Given the description of an element on the screen output the (x, y) to click on. 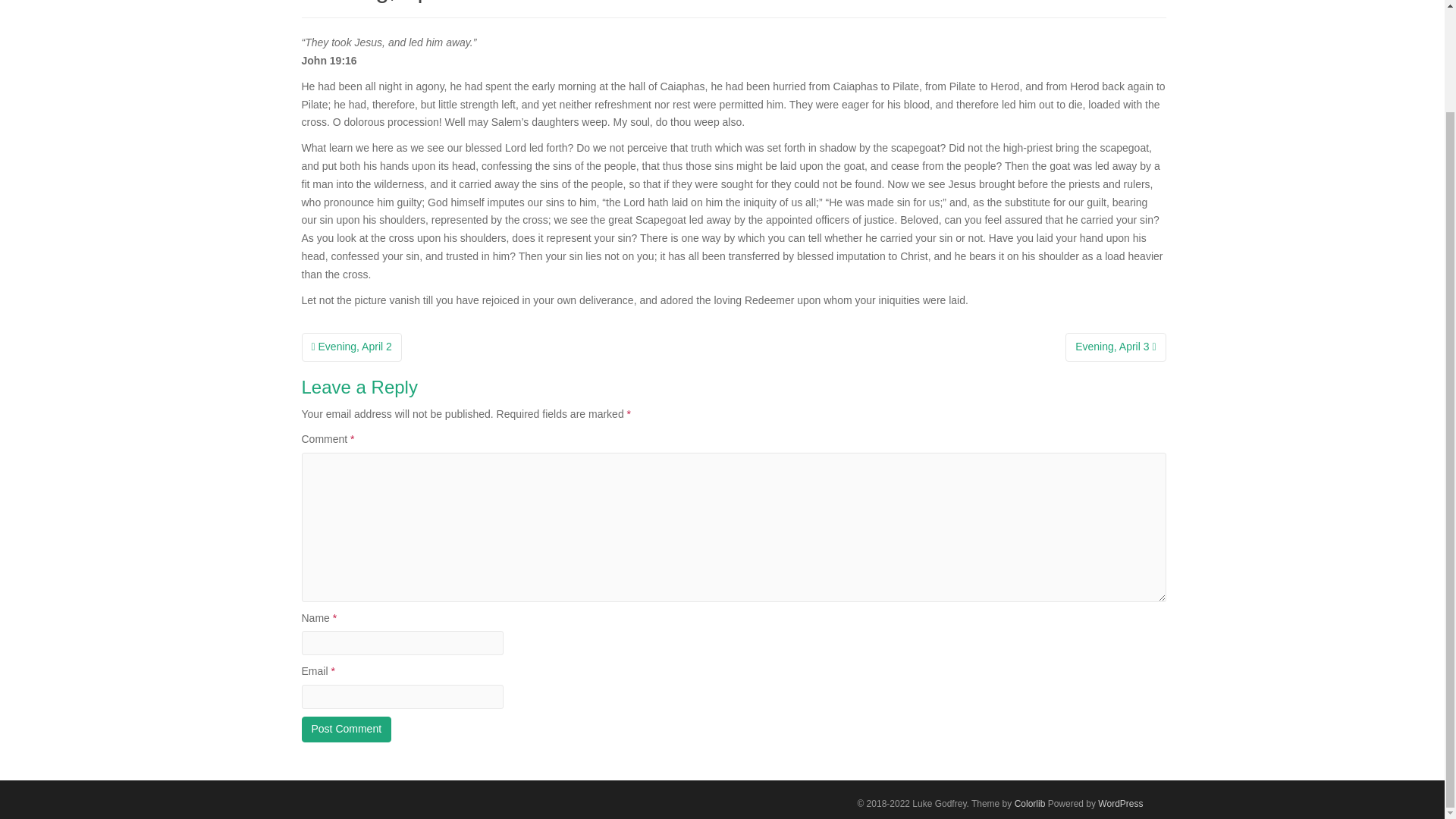
Post Comment (346, 729)
Colorlib (1029, 803)
Evening, April 2 (351, 346)
WordPress (1119, 803)
Evening, April 3 (1115, 346)
Post Comment (346, 729)
